Given the description of an element on the screen output the (x, y) to click on. 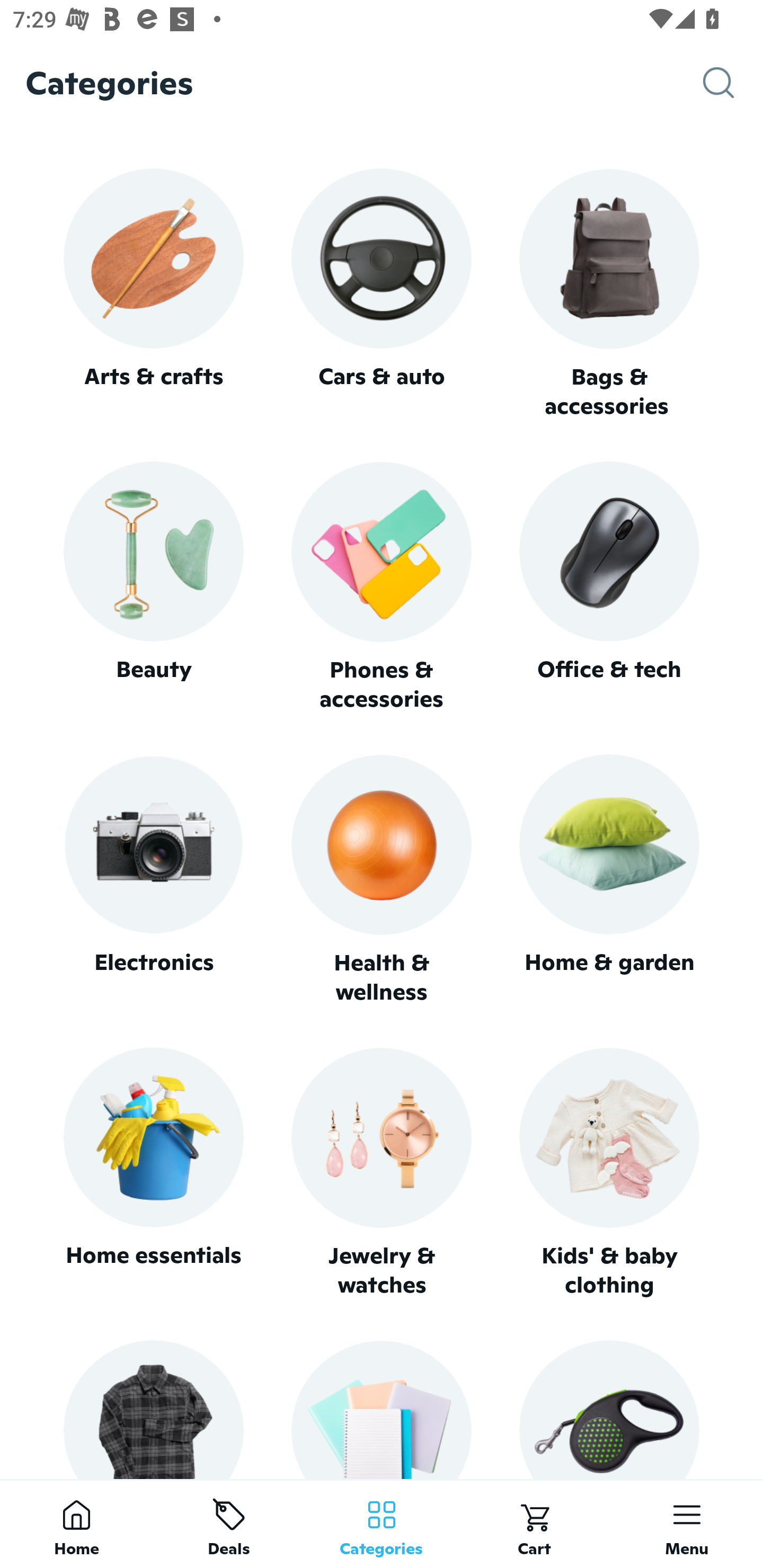
Search (732, 82)
Arts & crafts (153, 293)
Cars & auto (381, 293)
Bags & accessories  (609, 294)
Beauty (153, 586)
Office & tech (609, 586)
Phones & accessories (381, 587)
Electronics (153, 880)
Home & garden (609, 880)
Health & wellness (381, 880)
Home essentials (153, 1172)
Jewelry & watches (381, 1172)
Kids' & baby clothing (609, 1172)
Men's clothing (153, 1409)
Pet supplies (609, 1409)
Office & school supplies (381, 1409)
Home (76, 1523)
Deals (228, 1523)
Categories (381, 1523)
Cart (533, 1523)
Menu (686, 1523)
